Given the description of an element on the screen output the (x, y) to click on. 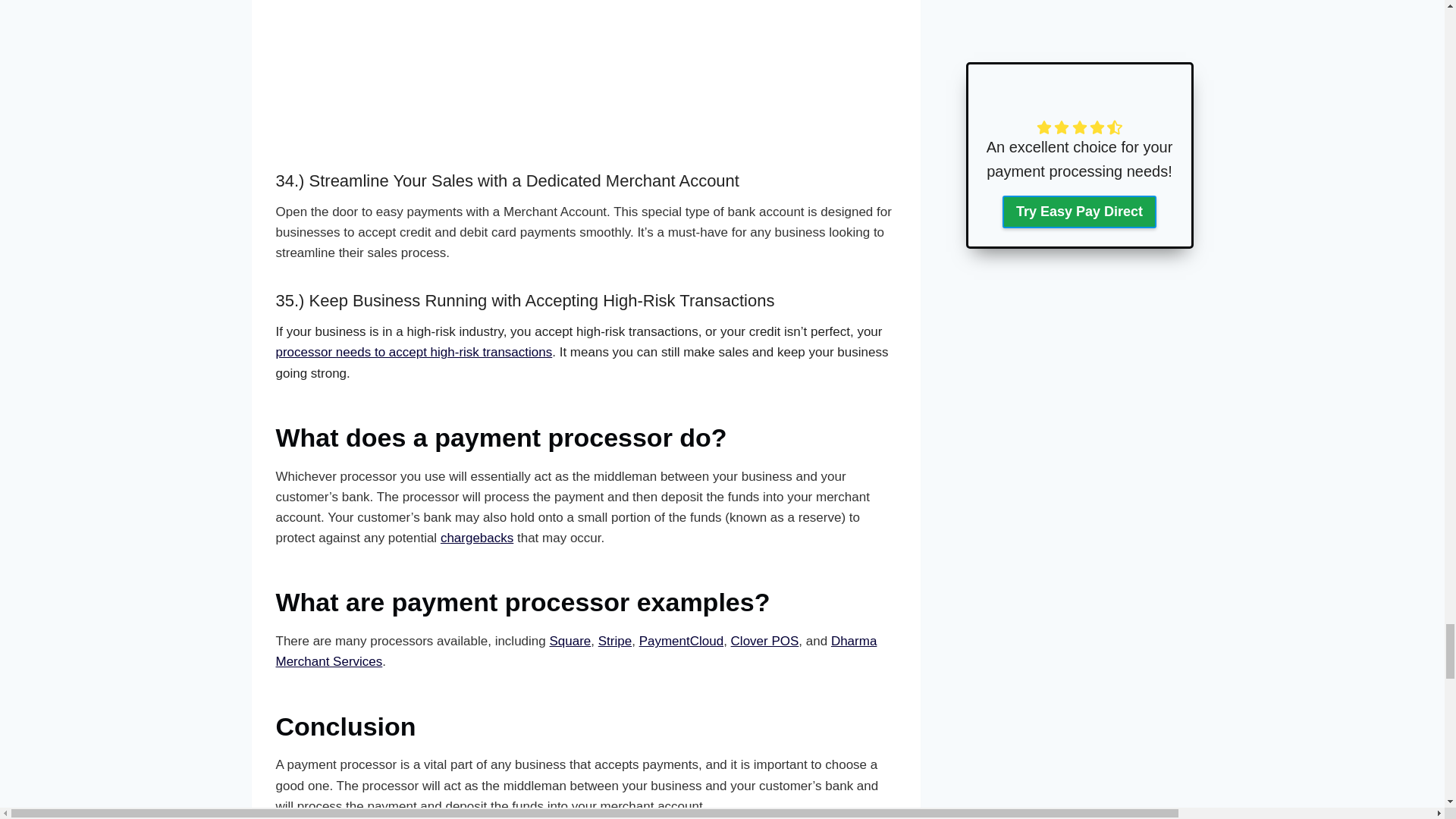
Clover (764, 640)
PaymentCloud (681, 640)
Square (569, 640)
Stripe (614, 640)
Dharma (576, 651)
